Given the description of an element on the screen output the (x, y) to click on. 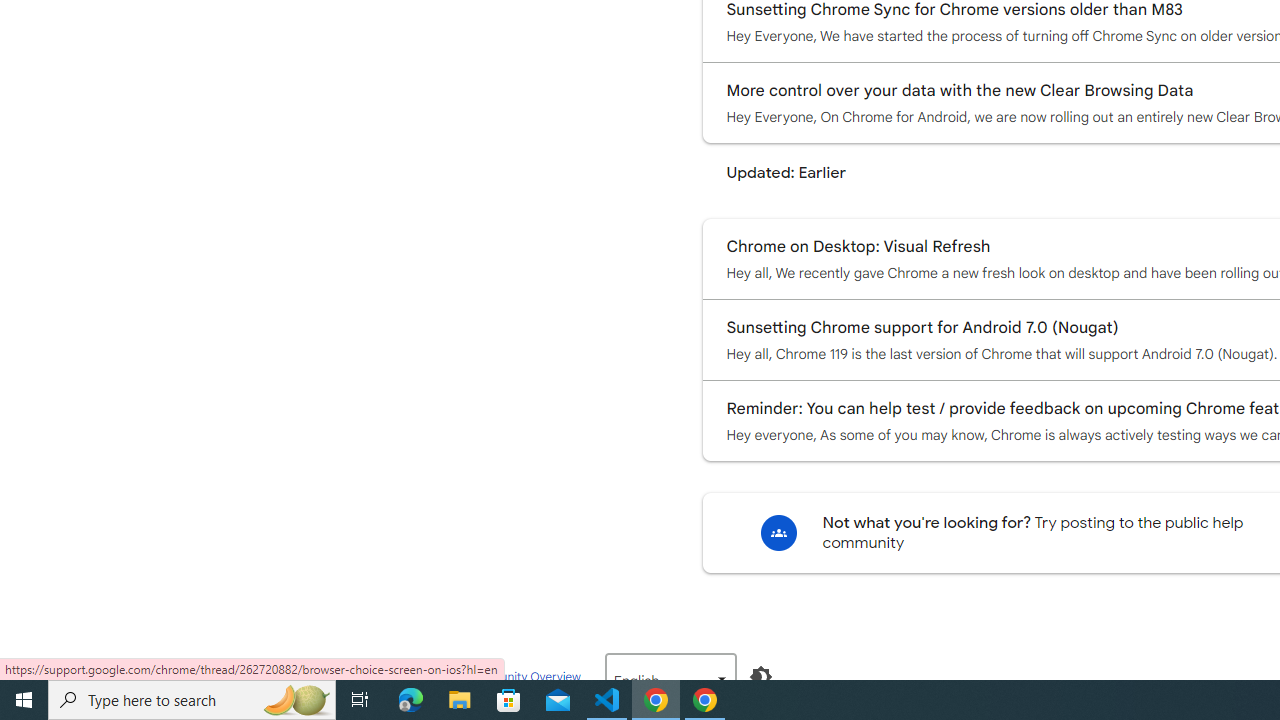
Community Policy (404, 676)
Enable Dark Mode (760, 677)
Community Overview (522, 676)
